Given the description of an element on the screen output the (x, y) to click on. 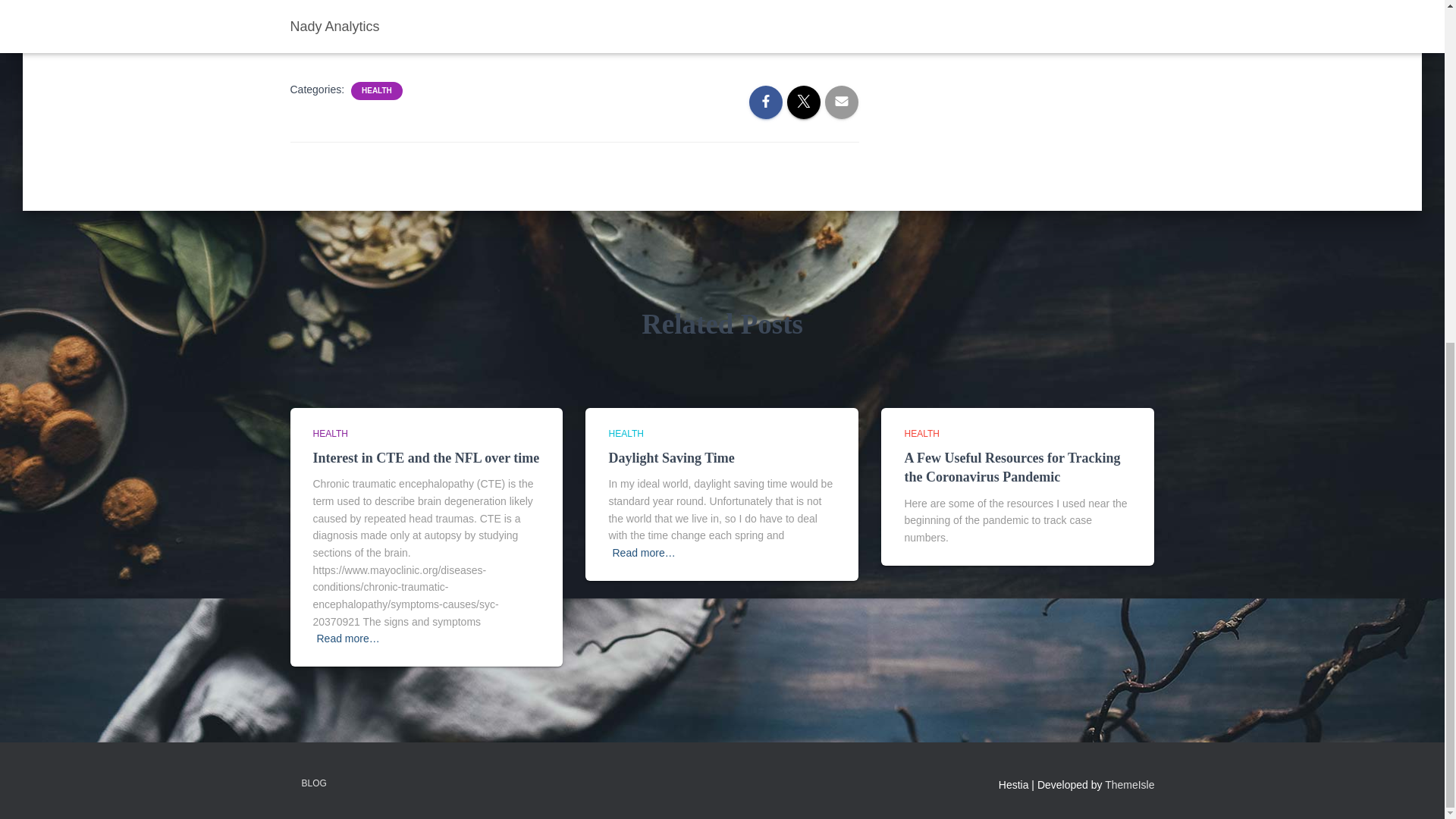
A Few Useful Resources for Tracking the Coronavirus Pandemic (1011, 467)
A Few Useful Resources for Tracking the Coronavirus Pandemic (1011, 467)
View all posts in Health (921, 433)
Daylight Saving Time (670, 458)
Daylight Saving Time (670, 458)
HEALTH (376, 90)
HEALTH (921, 433)
HEALTH (330, 433)
BLOG (313, 783)
View all posts in Health (330, 433)
